Given the description of an element on the screen output the (x, y) to click on. 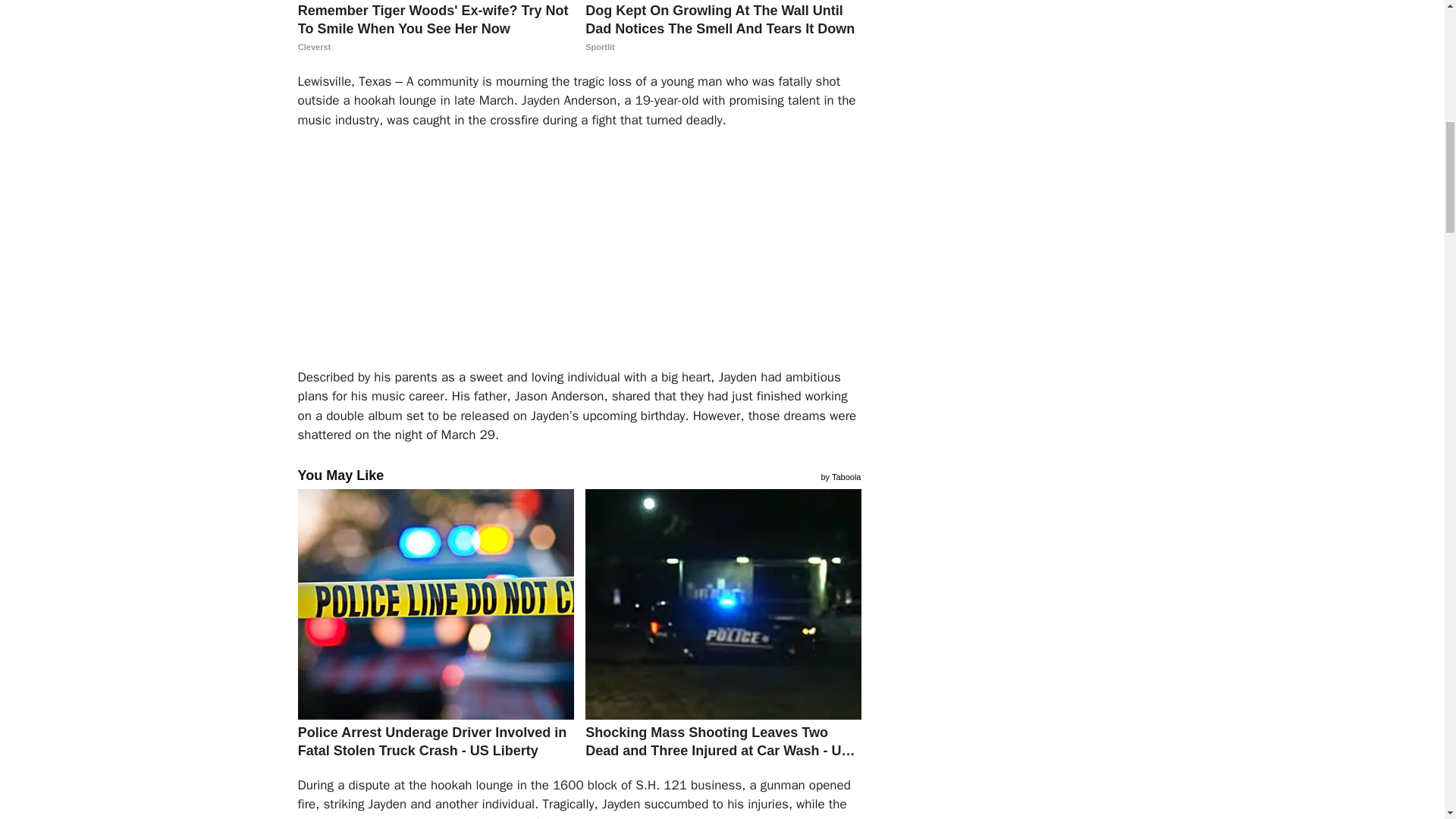
Advertisement (600, 255)
by Taboola (840, 475)
